Given the description of an element on the screen output the (x, y) to click on. 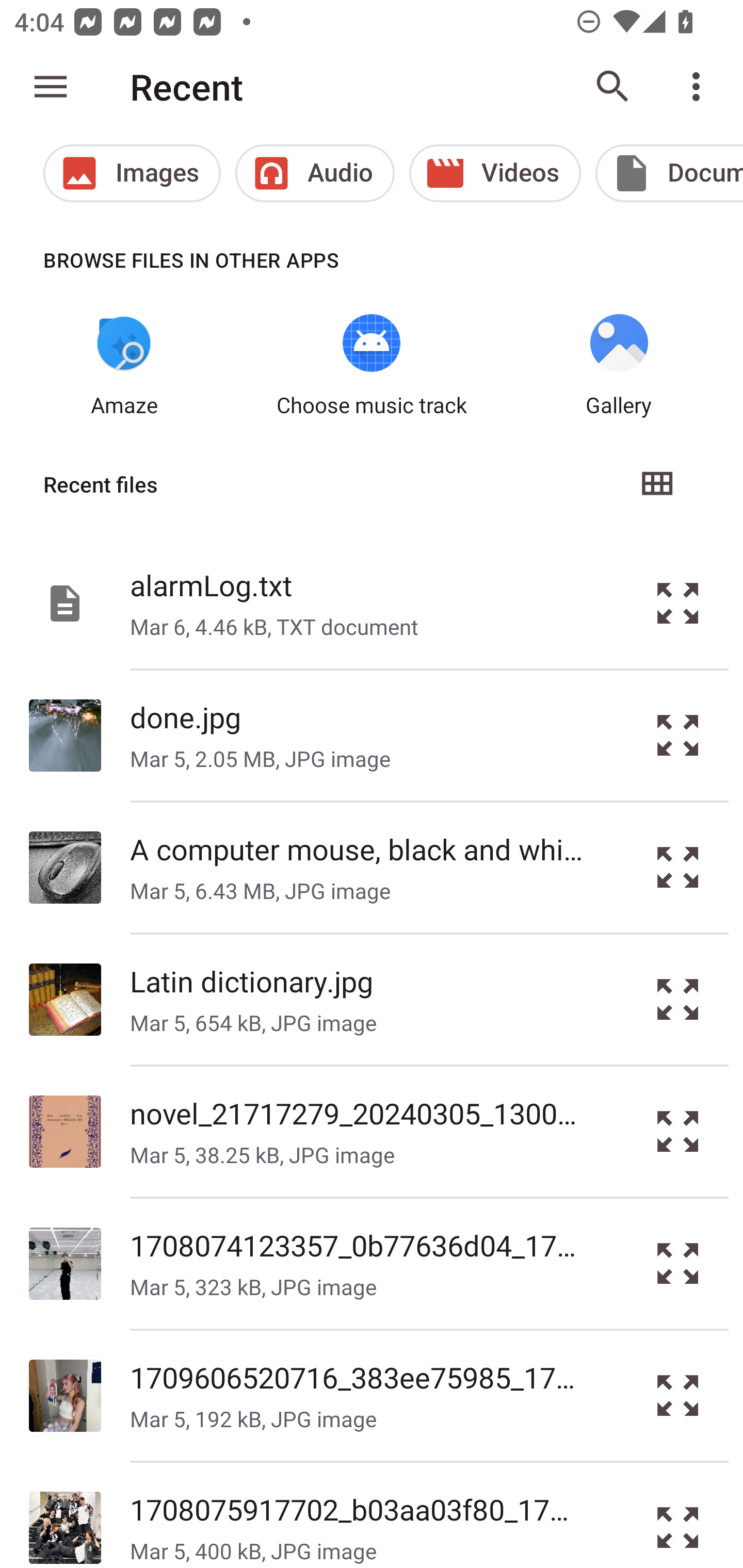
Show roots (50, 86)
Search (612, 86)
More options (699, 86)
Images (131, 173)
Audio (314, 173)
Videos (495, 173)
Documents (669, 173)
Amaze (123, 365)
Choose music track (371, 365)
Gallery (619, 365)
Grid view (655, 484)
Preview the file alarmLog.txt (677, 602)
Preview the file done.jpg (677, 736)
Preview the file Latin dictionary.jpg (677, 999)
